Given the description of an element on the screen output the (x, y) to click on. 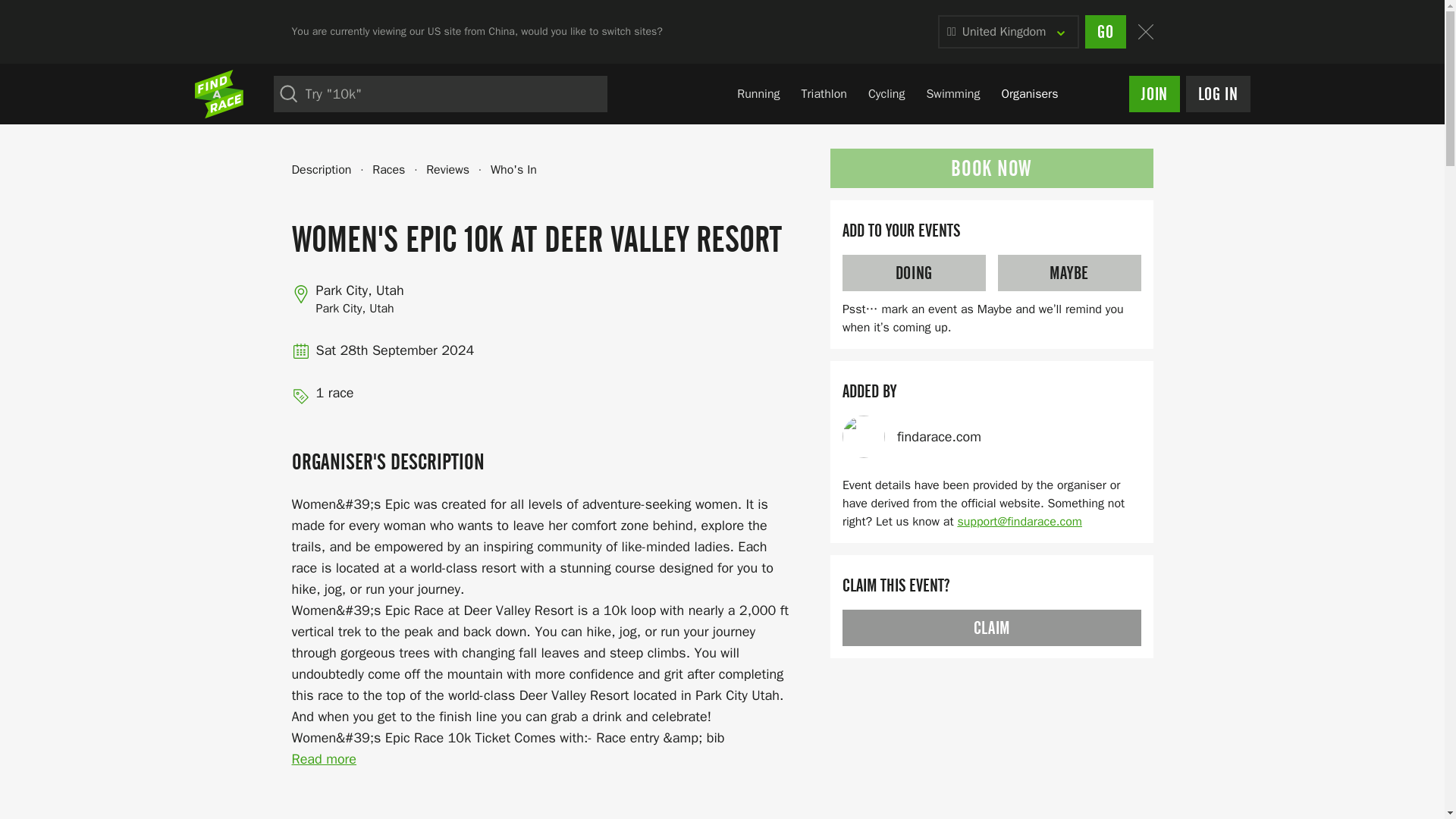
Triathlon (823, 95)
Running (897, 94)
GO (758, 95)
